Given the description of an element on the screen output the (x, y) to click on. 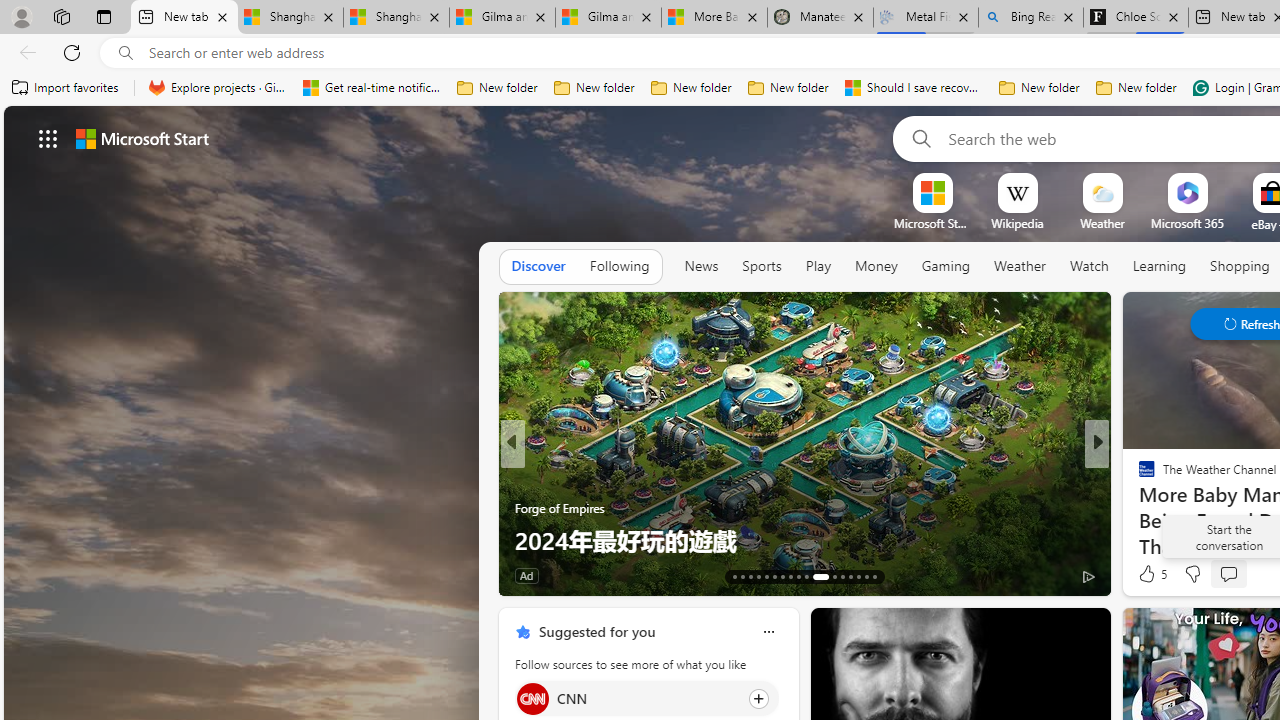
AutomationID: tab-18 (774, 576)
Click to follow source CNN (646, 698)
View comments 6 Comment (1234, 575)
Import favorites (65, 88)
News (701, 267)
Hide this story (1050, 632)
Gilma and Hector both pose tropical trouble for Hawaii (607, 17)
View comments 1 Comment (1234, 574)
Search icon (125, 53)
AutomationID: tab-40 (857, 576)
ETNT Mind+Body (1138, 475)
Microsoft start (142, 138)
